Given the description of an element on the screen output the (x, y) to click on. 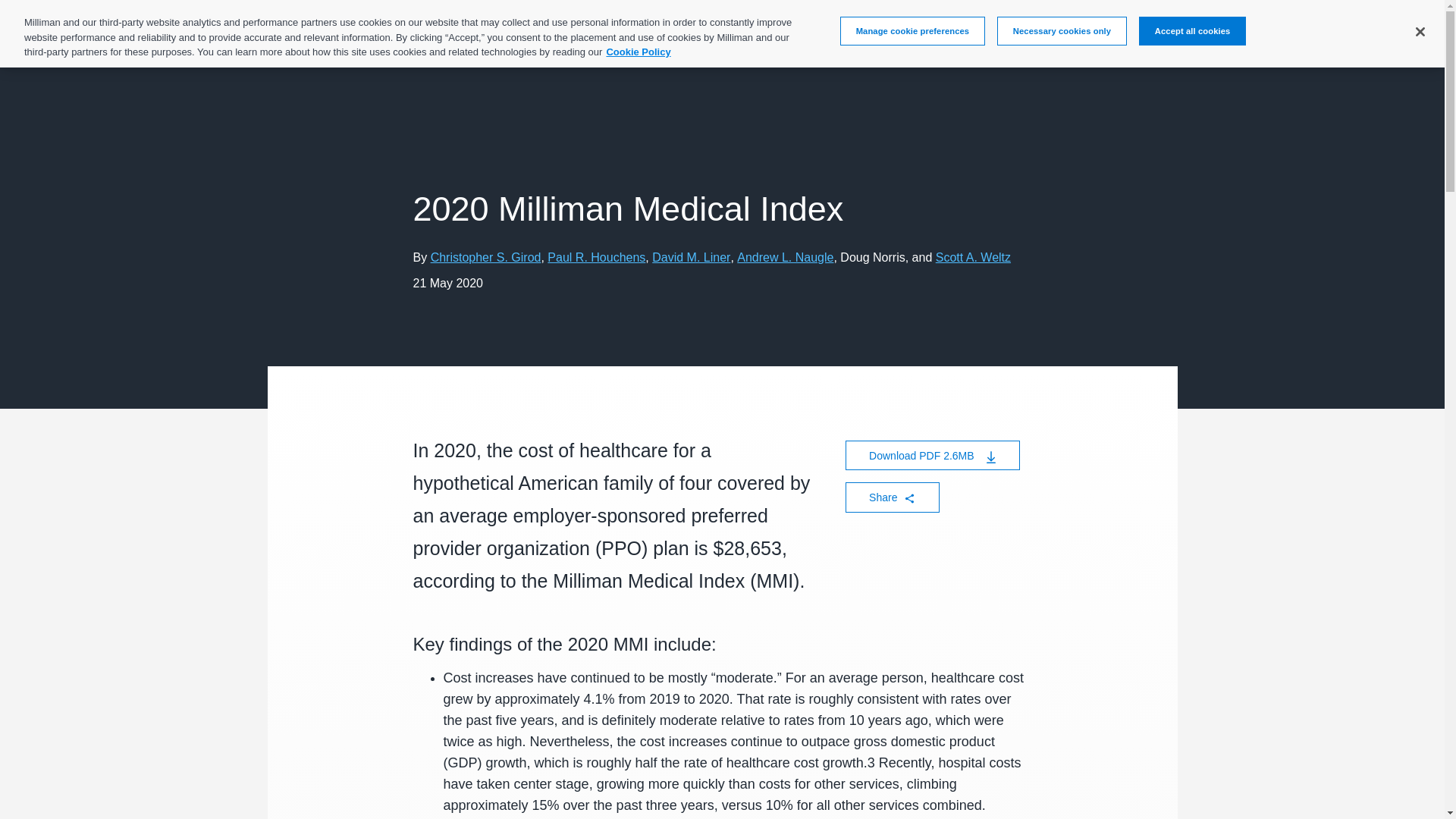
Careers (925, 40)
Insurance (680, 40)
Skip to main content (43, 36)
